Given the description of an element on the screen output the (x, y) to click on. 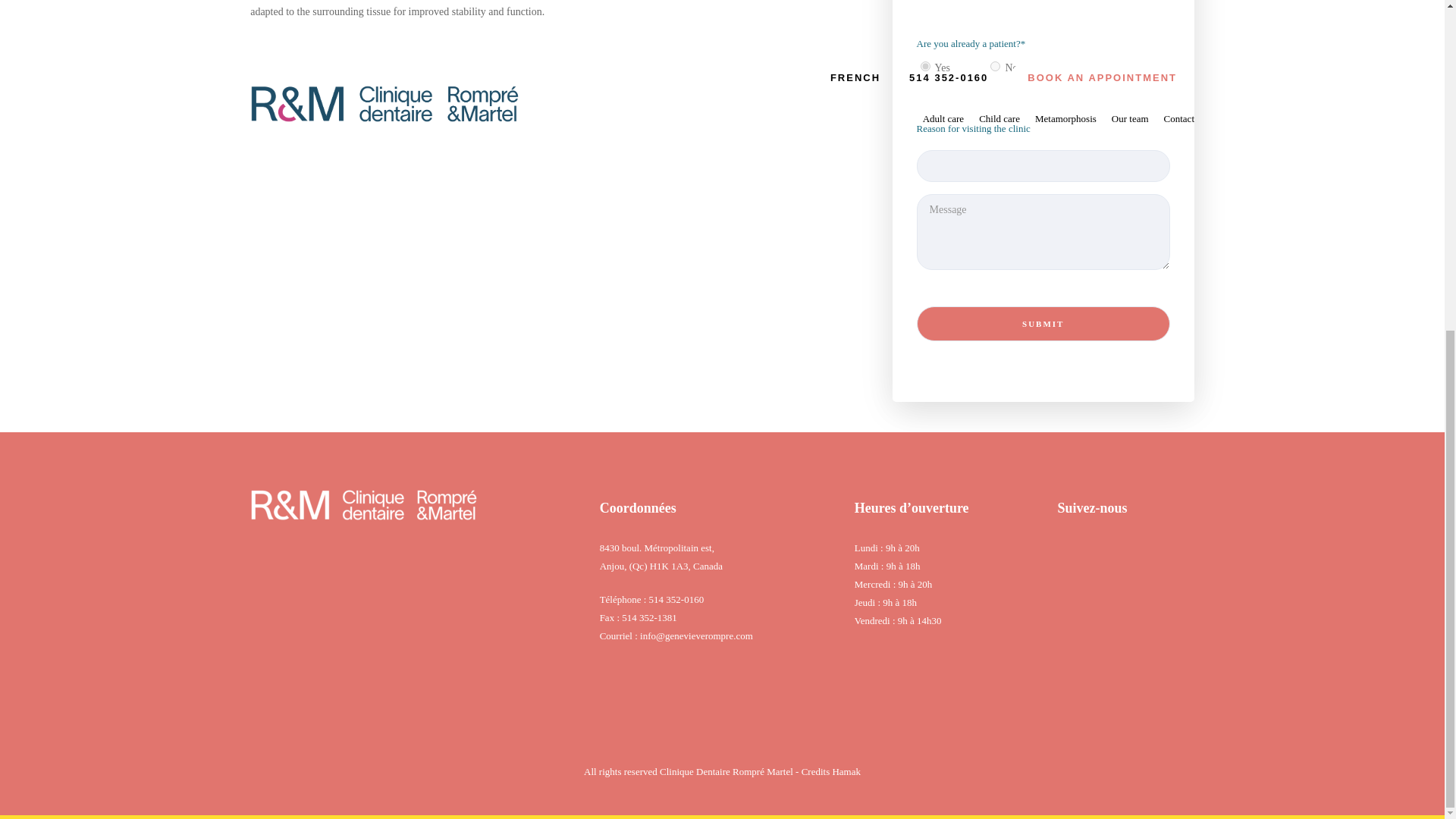
No (995, 66)
Submit (1043, 323)
Submit (1043, 323)
Yes (925, 66)
